Given the description of an element on the screen output the (x, y) to click on. 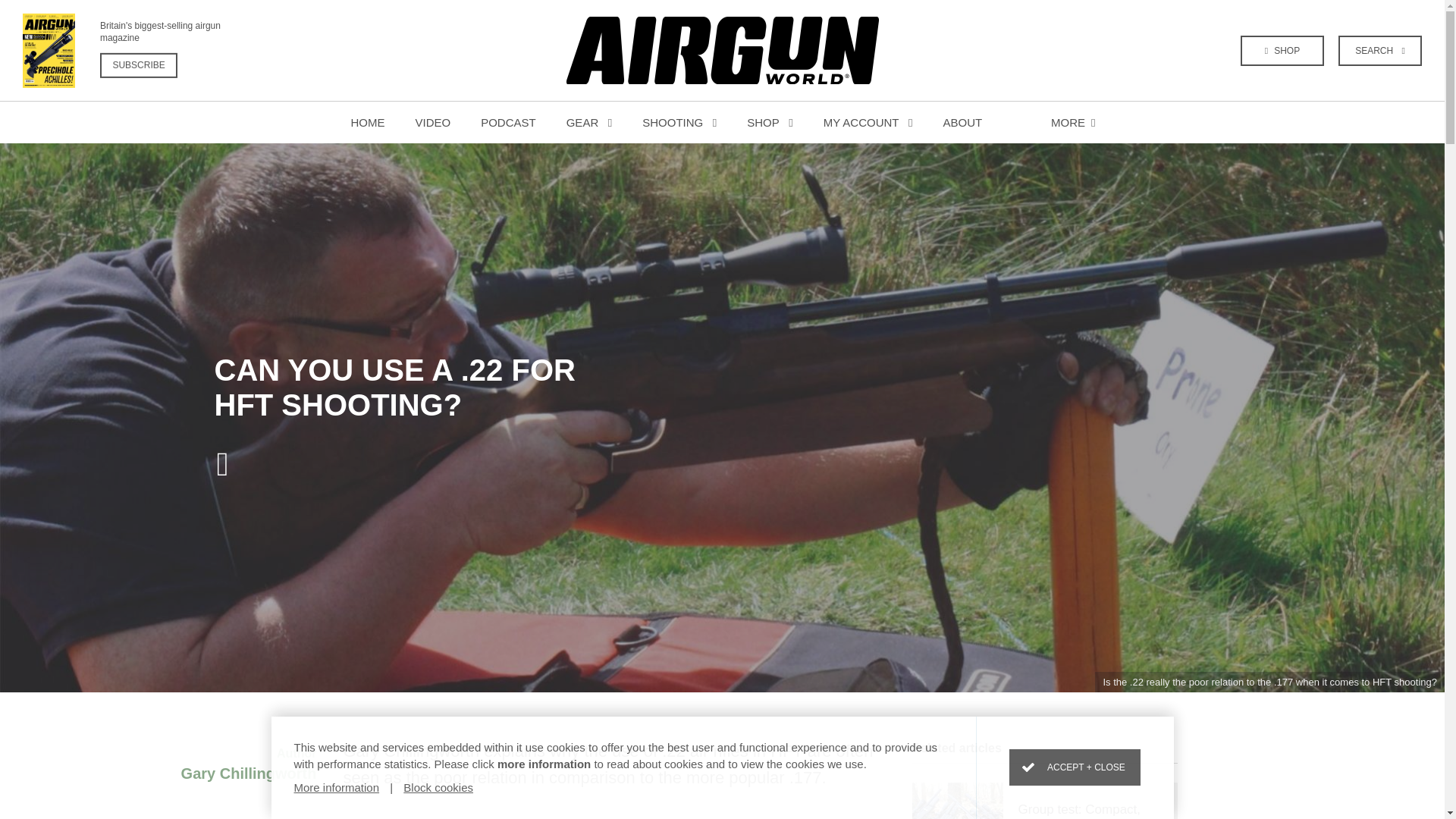
ABOUT (962, 122)
VIDEO (432, 122)
SEARCH (1380, 50)
Video (142, 49)
SHOP (432, 122)
HOME (770, 122)
MY ACCOUNT (366, 122)
SHOOTING (868, 122)
PODCAST (679, 122)
GEAR (508, 122)
SHOP (589, 122)
